Given the description of an element on the screen output the (x, y) to click on. 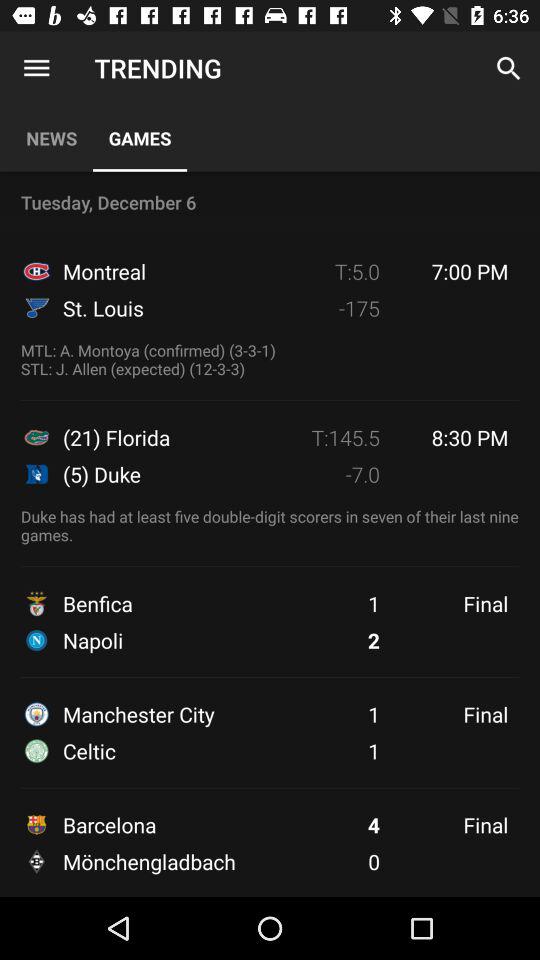
turn on icon next to games item (51, 138)
